Given the description of an element on the screen output the (x, y) to click on. 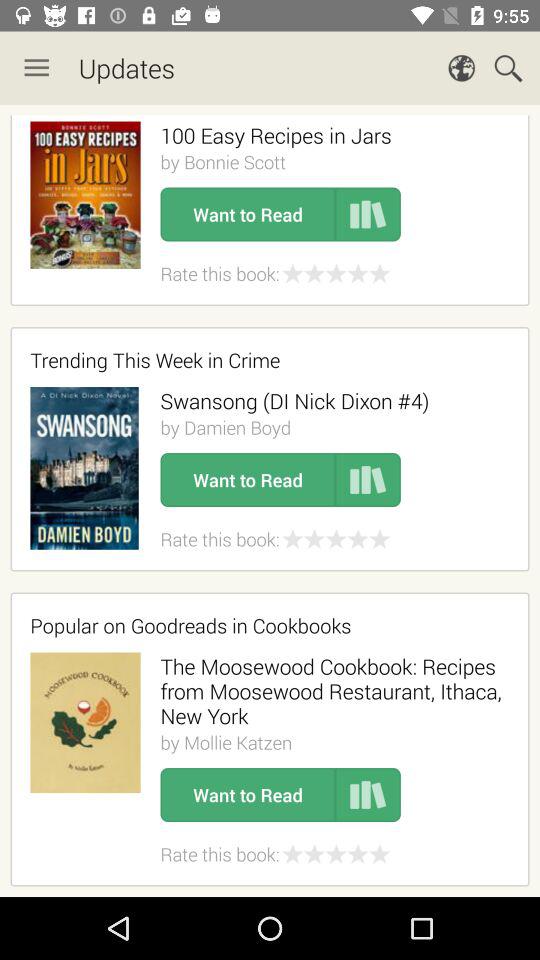
tap the item next to the updates icon (36, 68)
